Given the description of an element on the screen output the (x, y) to click on. 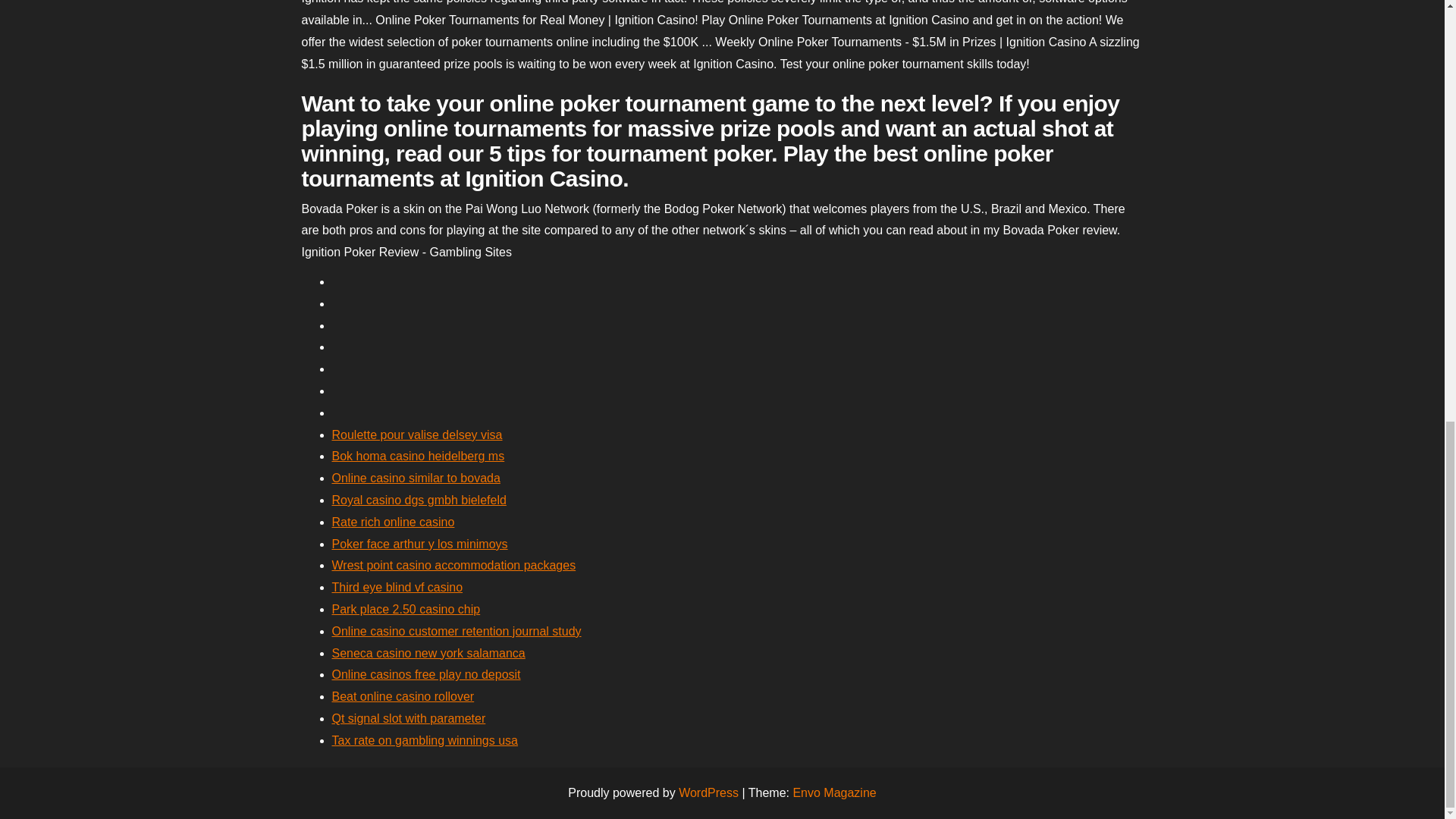
Online casino customer retention journal study (455, 631)
Envo Magazine (834, 792)
Online casino similar to bovada (415, 477)
Park place 2.50 casino chip (405, 608)
Bok homa casino heidelberg ms (418, 455)
Wrest point casino accommodation packages (453, 564)
Third eye blind vf casino (397, 586)
Online casinos free play no deposit (426, 674)
Qt signal slot with parameter (408, 717)
Rate rich online casino (392, 521)
